Given the description of an element on the screen output the (x, y) to click on. 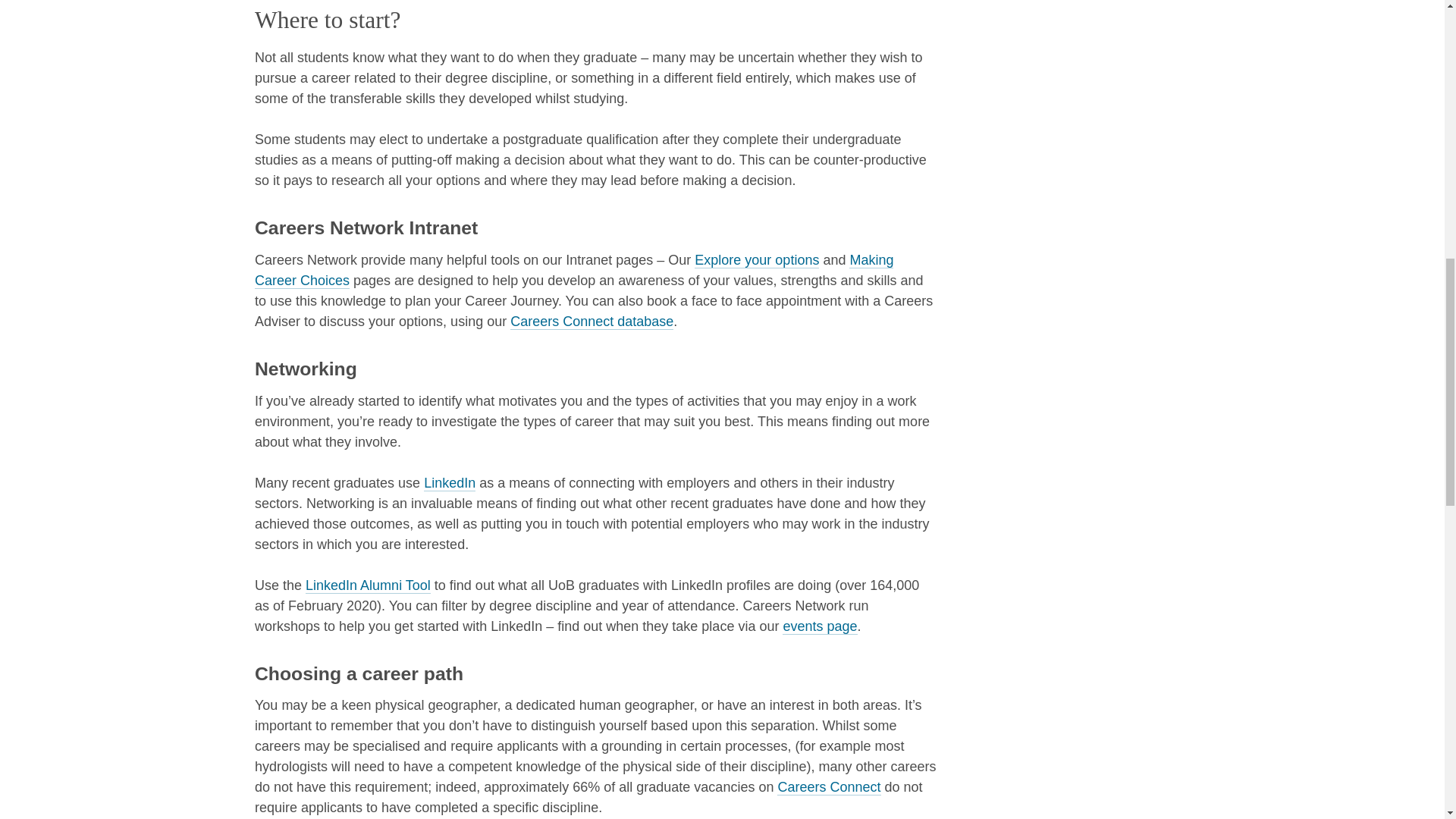
Careers Connect database (591, 321)
Making Career Choices (573, 270)
LinkedIn (449, 483)
Explore your options (756, 260)
Explore your options (756, 260)
Making career choices (573, 270)
